Given the description of an element on the screen output the (x, y) to click on. 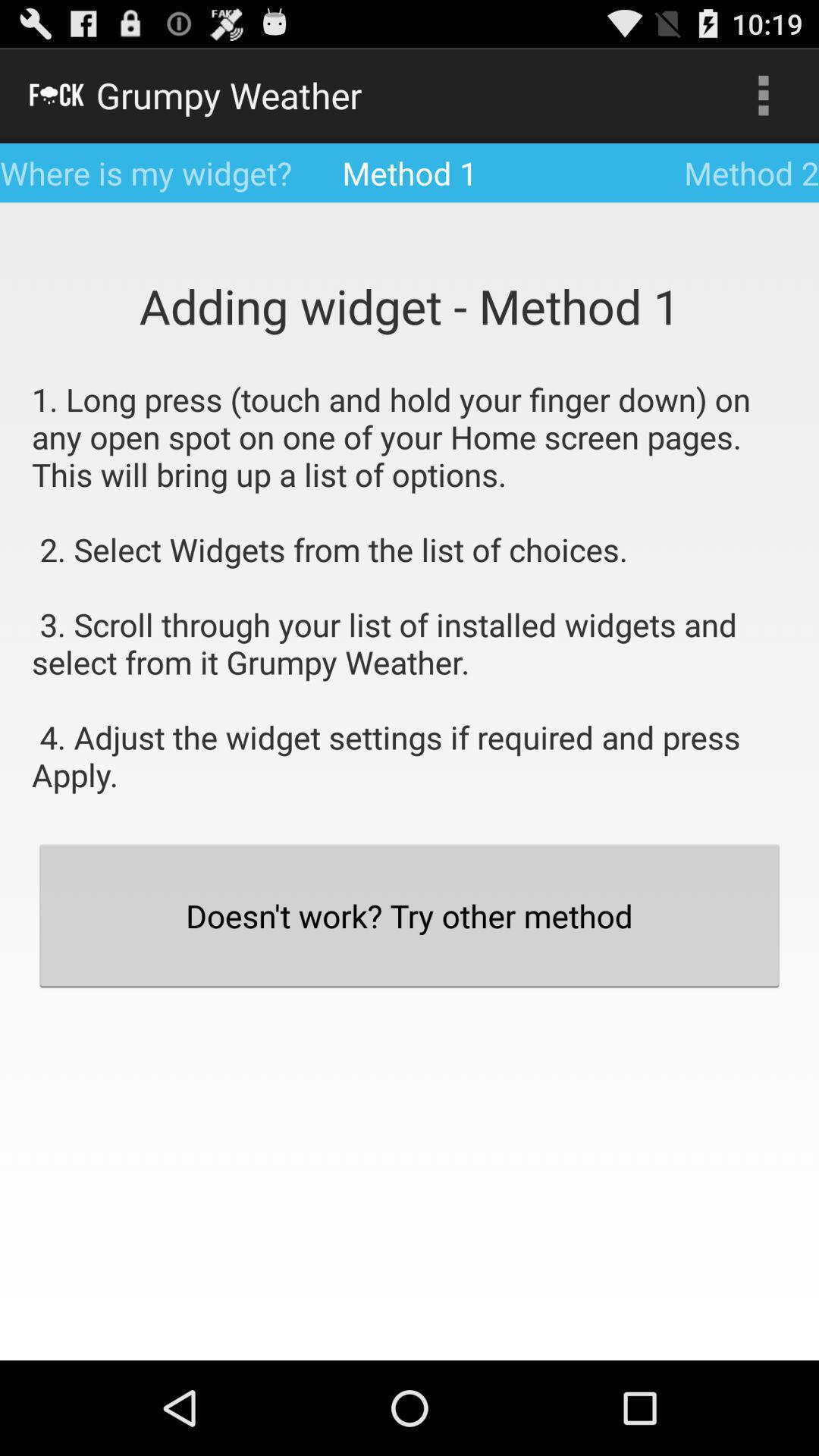
choose the item next to method 1 (763, 95)
